Given the description of an element on the screen output the (x, y) to click on. 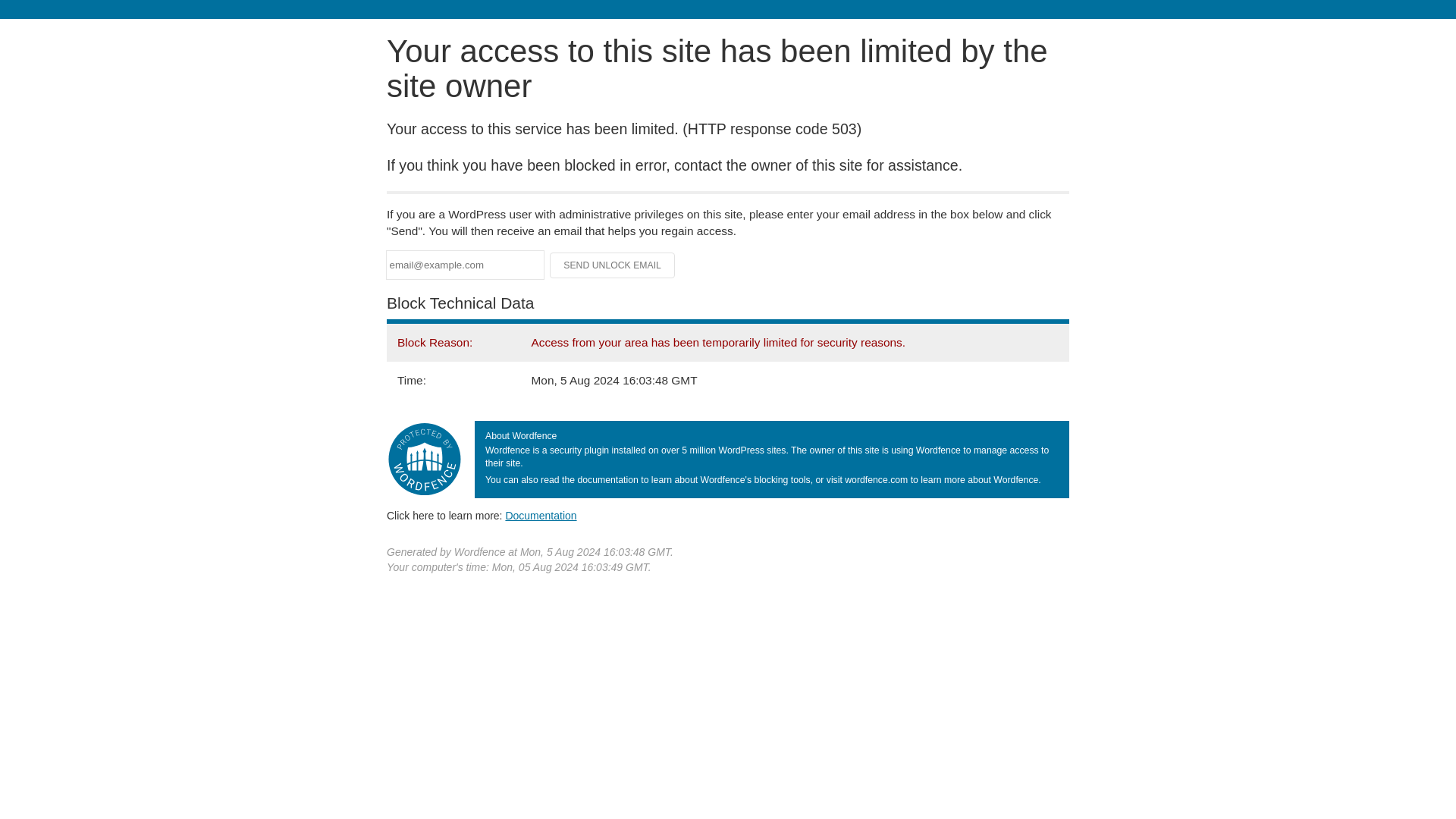
Send Unlock Email (612, 265)
Documentation (540, 515)
Send Unlock Email (612, 265)
